Given the description of an element on the screen output the (x, y) to click on. 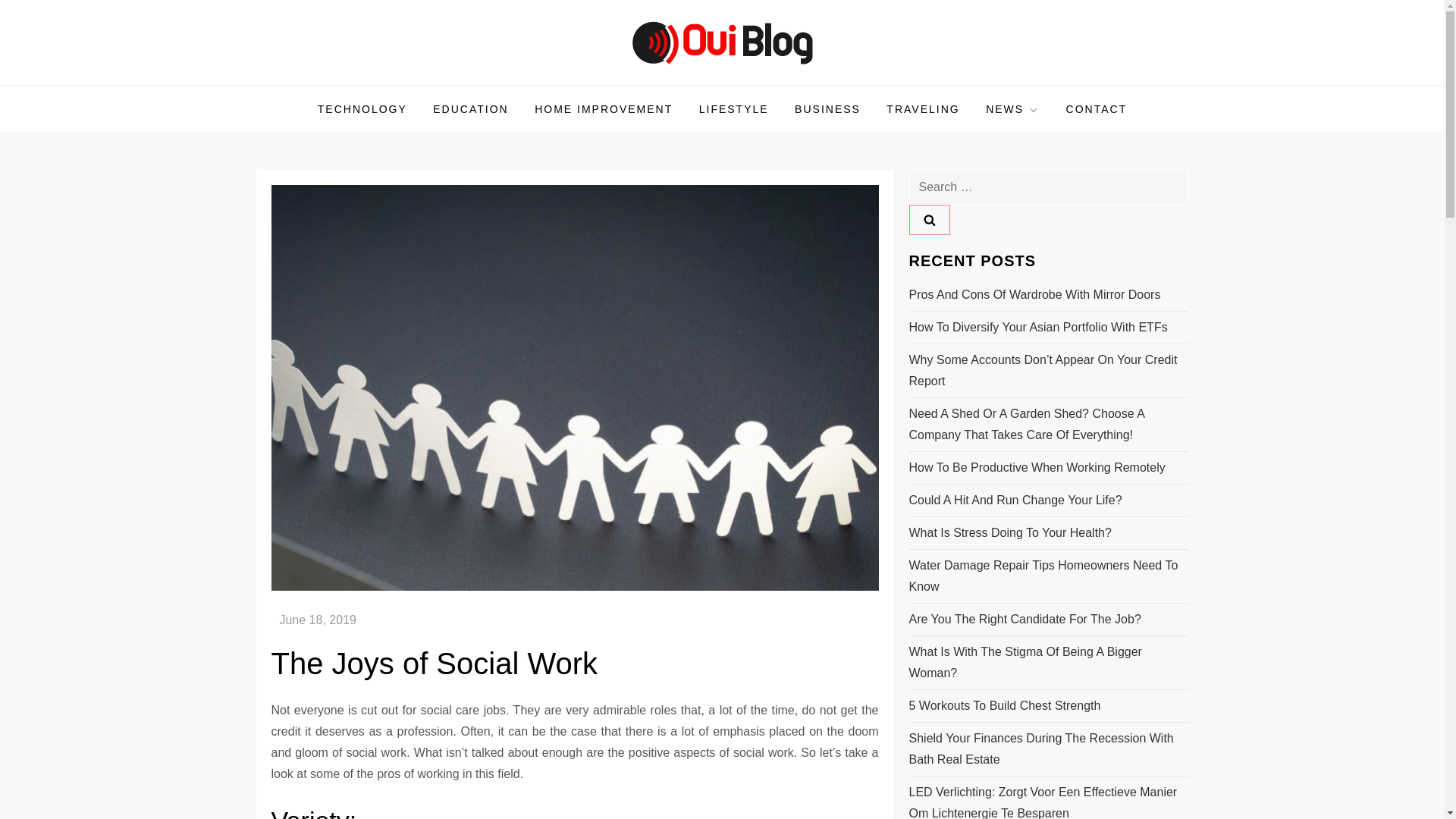
How To Diversify Your Asian Portfolio With ETFs (1037, 327)
June 18, 2019 (317, 619)
Are You The Right Candidate For The Job? (1024, 619)
Search (928, 219)
How To Be Productive When Working Remotely (1036, 467)
HOME IMPROVEMENT (603, 108)
Water Damage Repair Tips Homeowners Need To Know (1048, 576)
What Is Stress Doing To Your Health? (1009, 532)
